Given the description of an element on the screen output the (x, y) to click on. 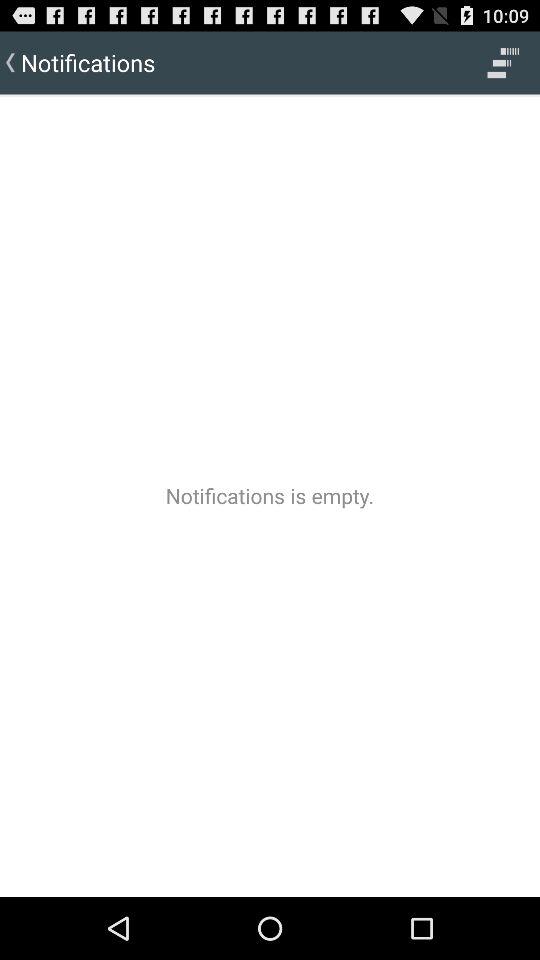
choose the icon to the right of notifications app (503, 62)
